Given the description of an element on the screen output the (x, y) to click on. 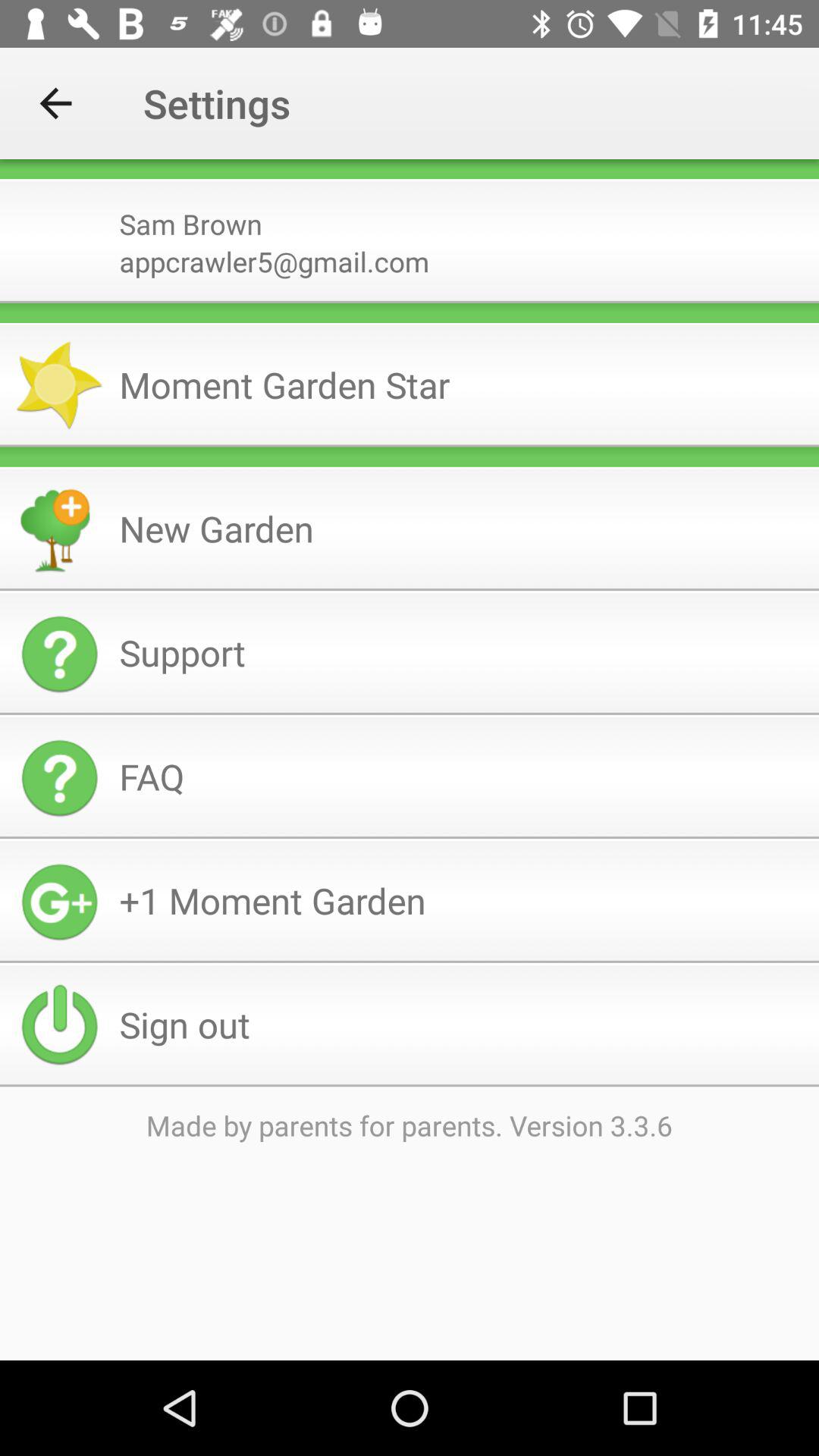
click on icon on the left side of sign out (59, 1024)
